Given the description of an element on the screen output the (x, y) to click on. 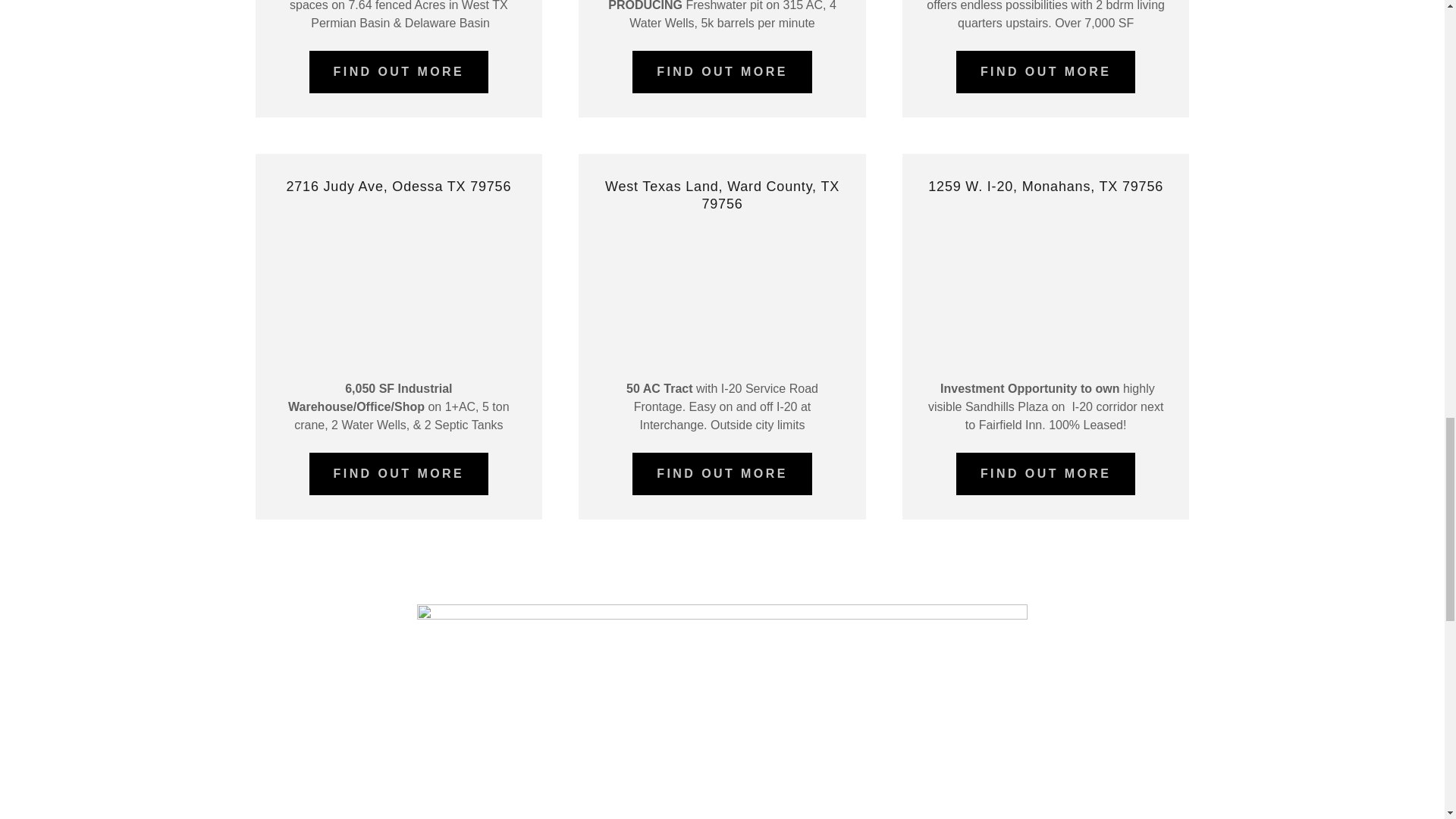
FIND OUT MORE (721, 71)
FIND OUT MORE (1045, 473)
FIND OUT MORE (398, 71)
FIND OUT MORE (1045, 71)
FIND OUT MORE (398, 473)
FIND OUT MORE (721, 473)
